Given the description of an element on the screen output the (x, y) to click on. 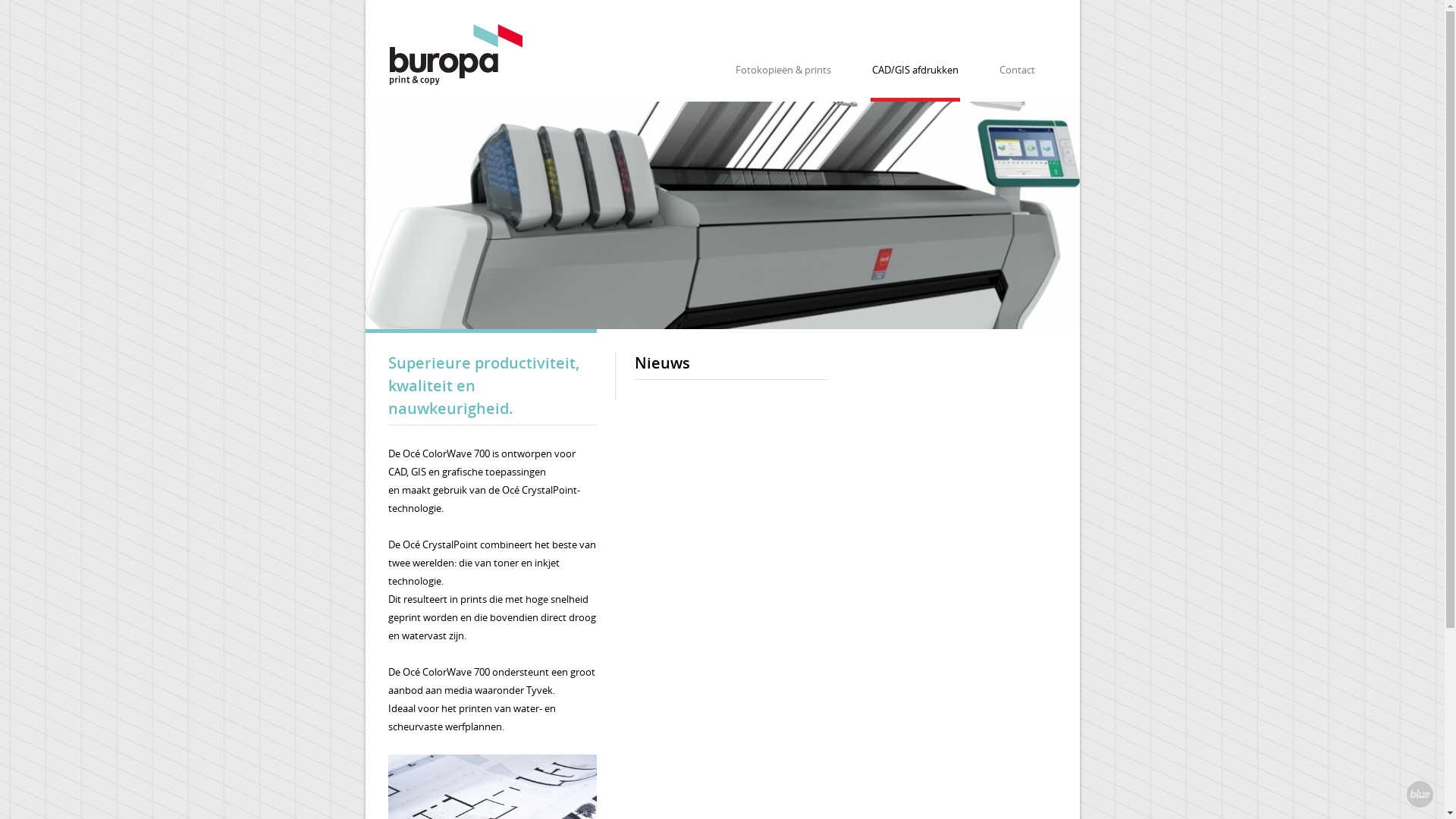
  Element type: text (1419, 794)
site by Blue Element type: hover (1419, 794)
CAD/GIS afdrukken Element type: text (915, 71)
Contact Element type: text (1016, 71)
